Given the description of an element on the screen output the (x, y) to click on. 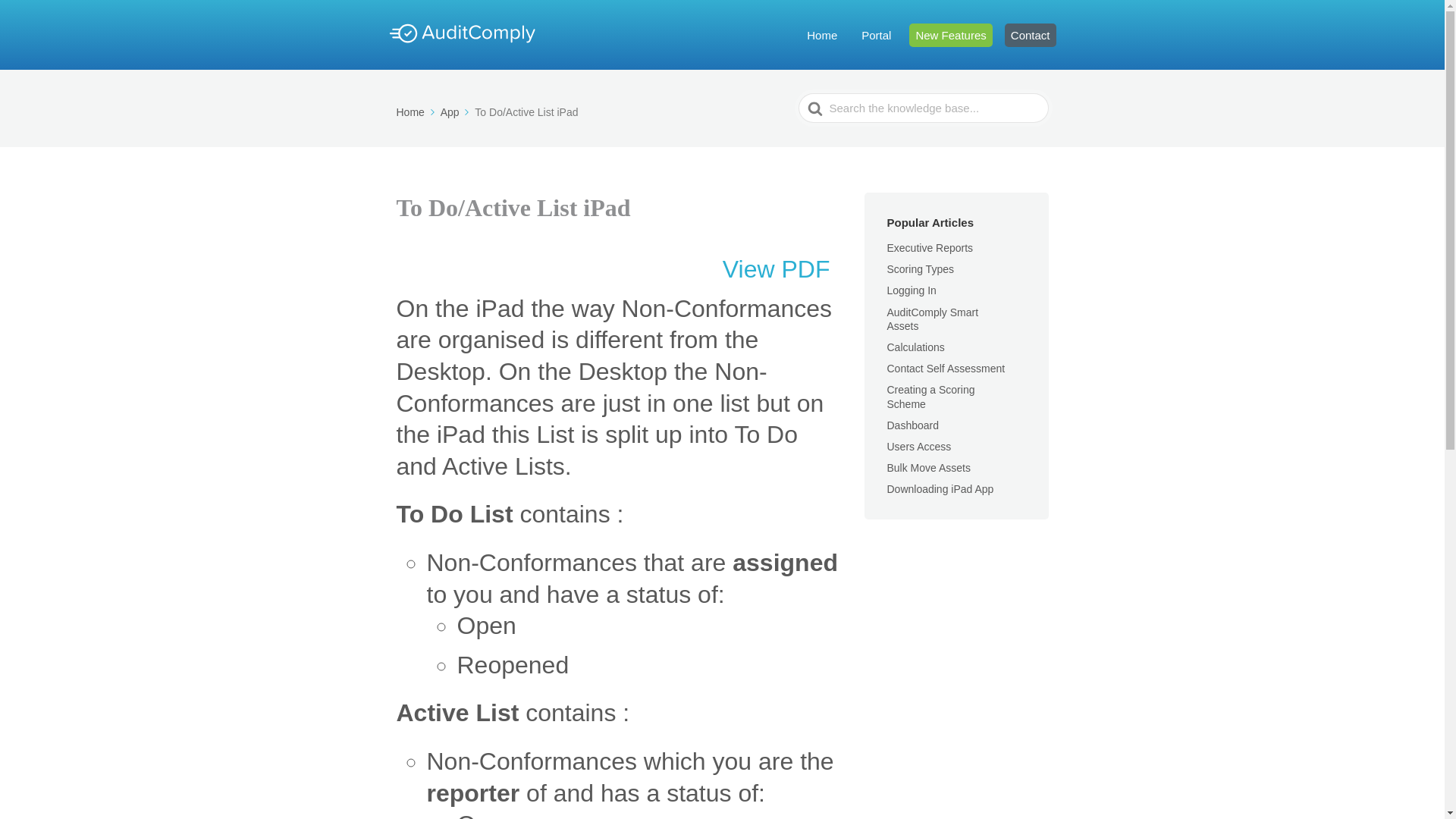
Calculations (924, 346)
Dashboard (922, 425)
App (456, 111)
Home (416, 111)
Portal (876, 33)
AuditComply Smart Assets (932, 319)
Scoring Types (929, 268)
View PDF (776, 269)
New Features (949, 33)
Contact Self Assessment (955, 368)
Logging In (920, 290)
Creating a Scoring Scheme (930, 396)
Executive Reports (939, 247)
Home (821, 33)
Contact (1030, 33)
